Given the description of an element on the screen output the (x, y) to click on. 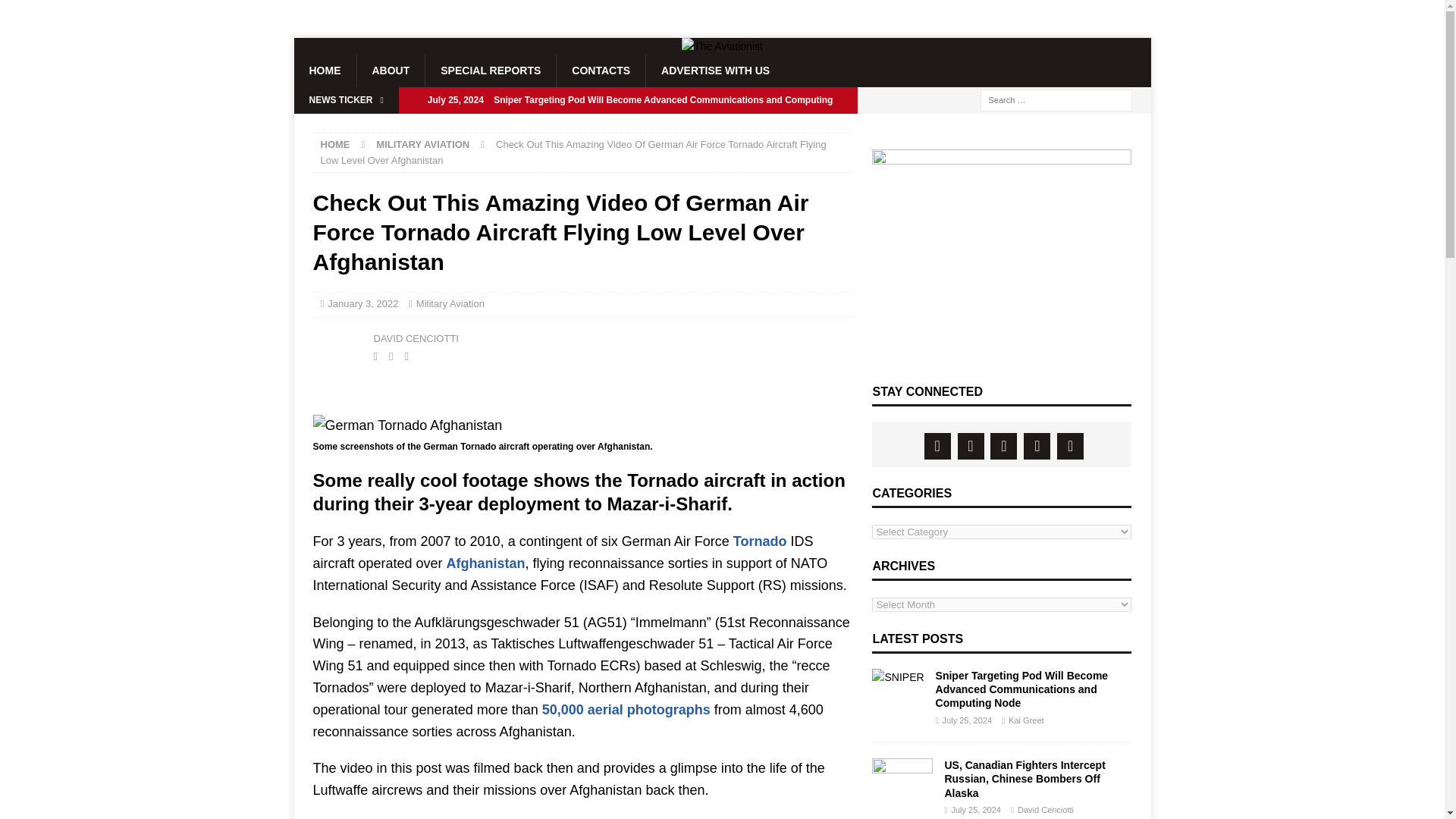
Search (56, 11)
The Aviationist (721, 46)
Military Aviation (450, 303)
Tornado (760, 540)
HOME (334, 143)
ADVERTISE WITH US (714, 70)
GAF Tornado Afghanistan top (407, 425)
50,000 aerial photographs (625, 709)
CONTACTS (600, 70)
SPECIAL REPORTS (490, 70)
ABOUT (390, 70)
DAVID CENCIOTTI (415, 337)
Afghanistan (485, 563)
